Given the description of an element on the screen output the (x, y) to click on. 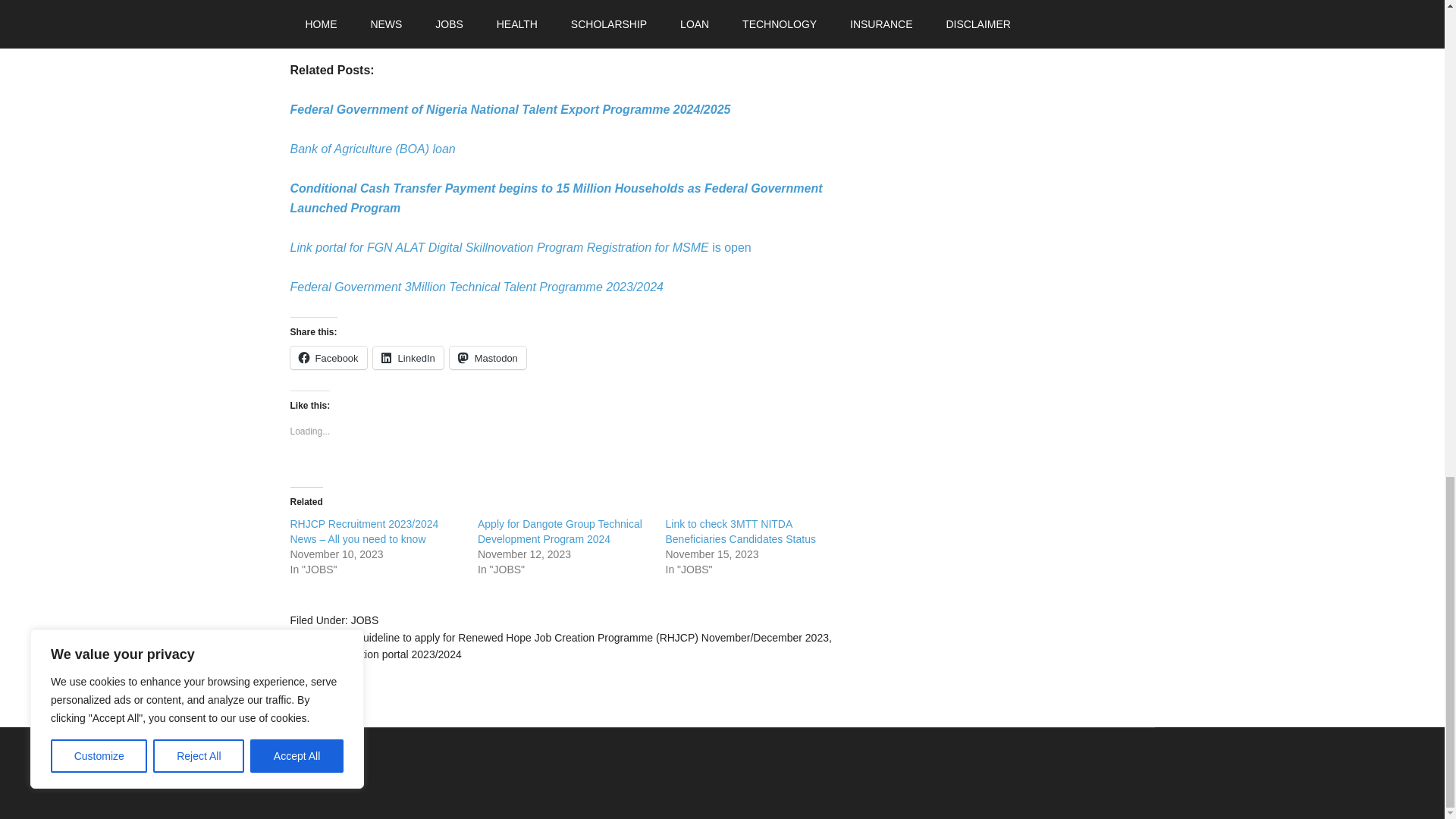
Click to share on Facebook (327, 357)
Click to share on LinkedIn (408, 357)
Apply for Dangote Group Technical Development Program 2024 (559, 531)
Link to check 3MTT NITDA Beneficiaries Candidates Status (740, 531)
Click to share on Mastodon (487, 357)
